Given the description of an element on the screen output the (x, y) to click on. 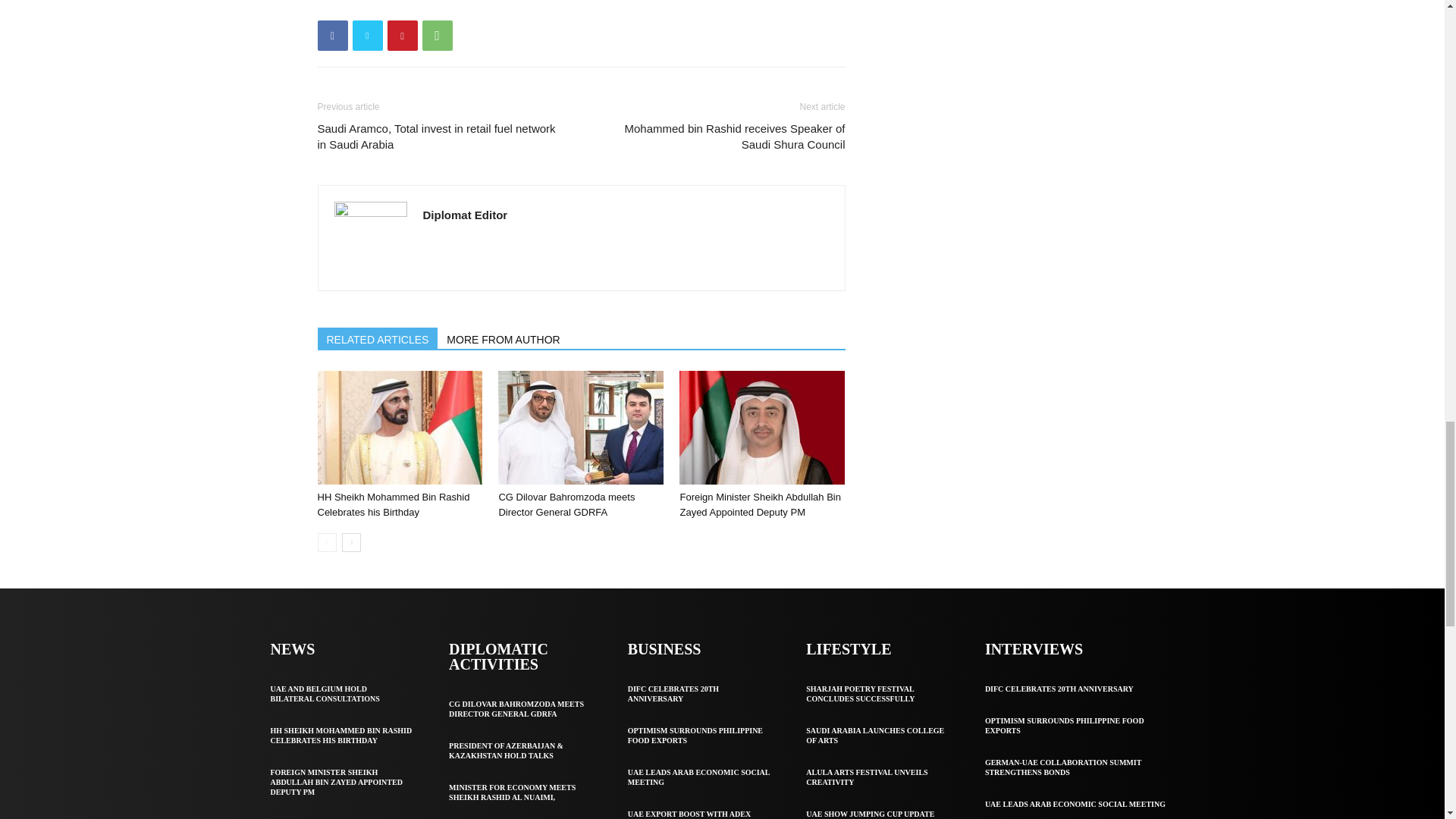
Mohammed bin Rashid receives Speaker of Saudi Shura Council (721, 136)
Pinterest (401, 35)
Diplomat Editor (465, 214)
WhatsApp (436, 35)
Twitter (366, 35)
RELATED ARTICLES (377, 337)
Facebook (332, 35)
MORE FROM AUTHOR (503, 337)
